Given the description of an element on the screen output the (x, y) to click on. 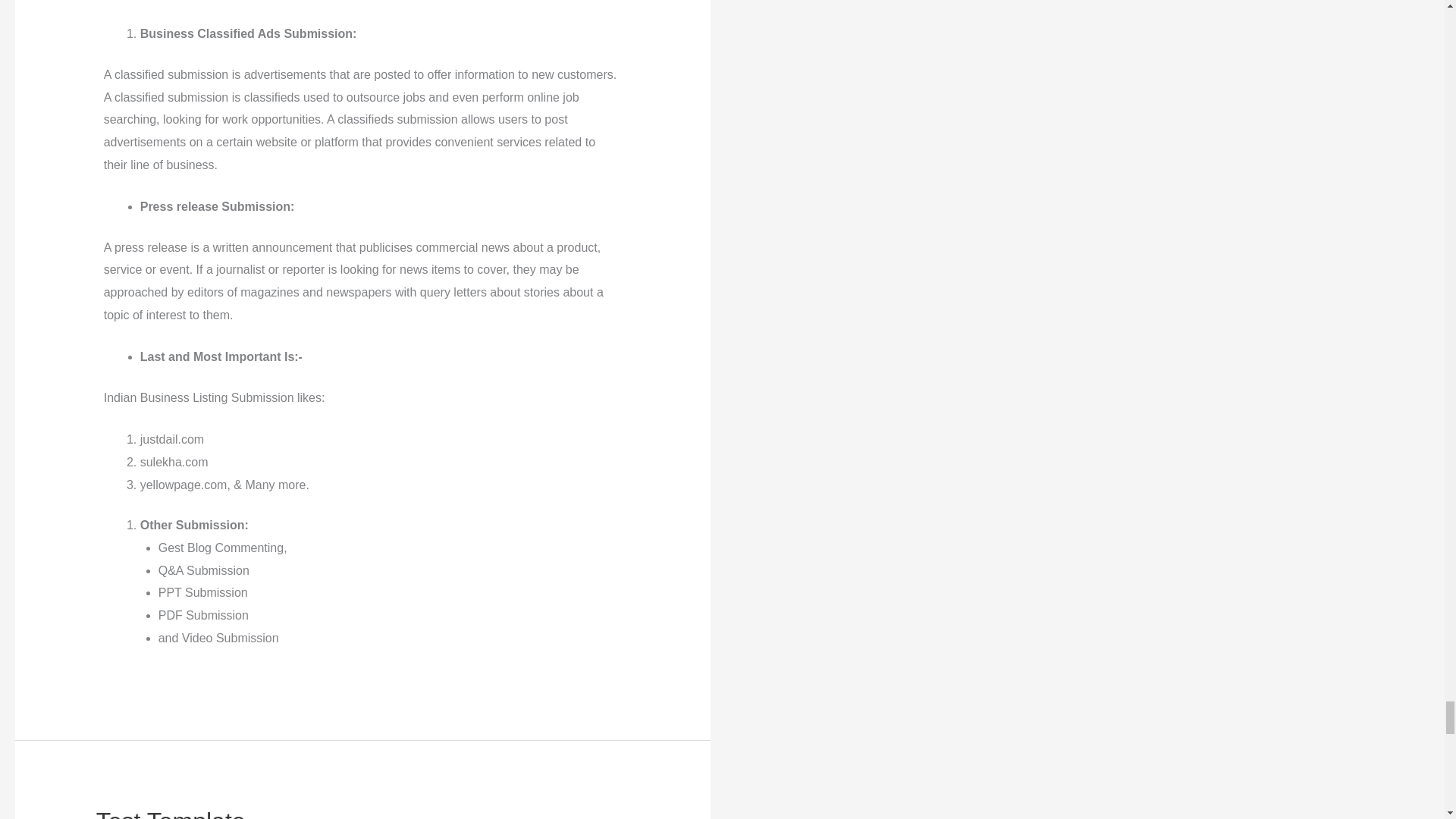
Test Template (171, 813)
